Given the description of an element on the screen output the (x, y) to click on. 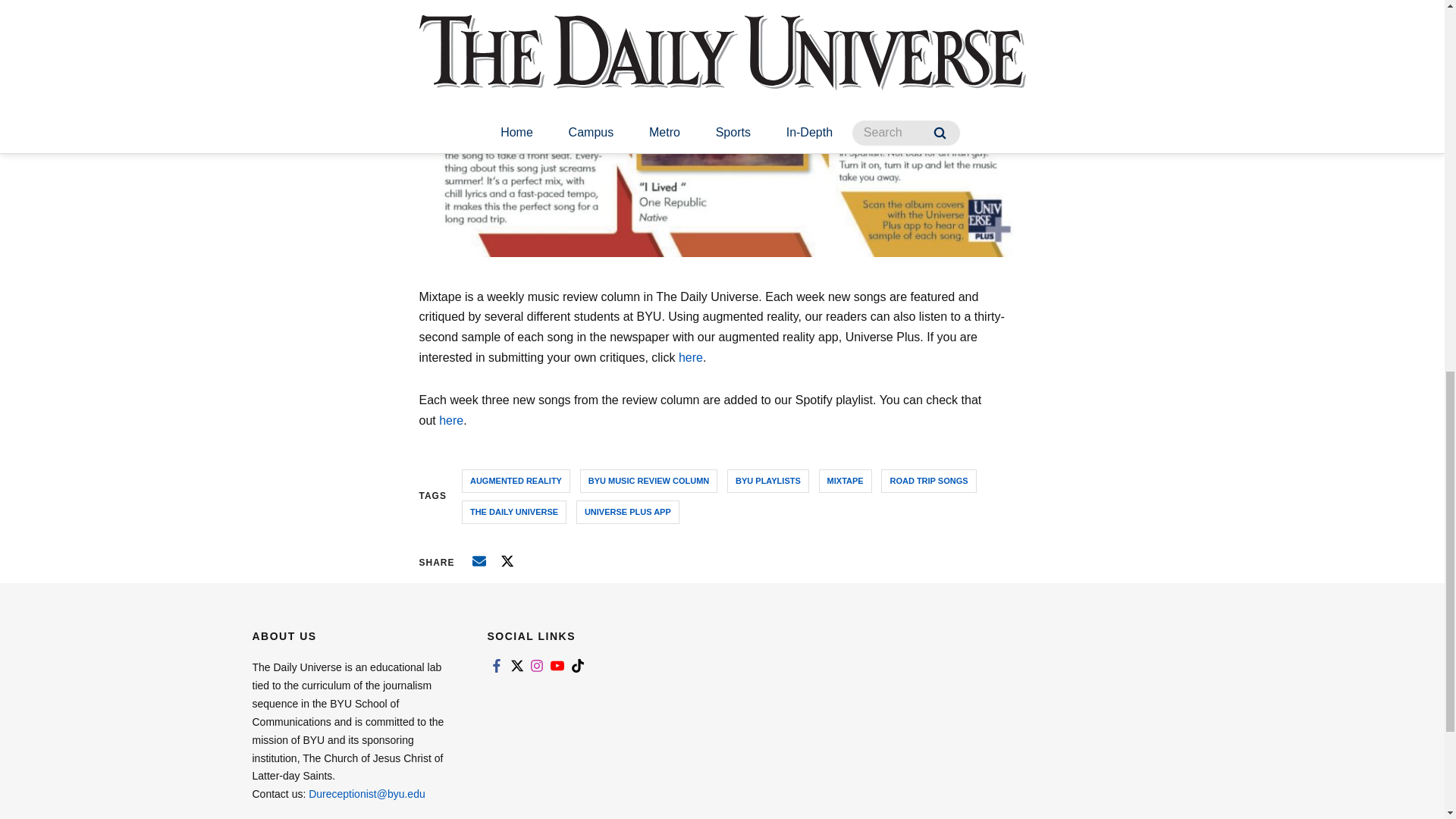
Link to instagram (536, 665)
MIXTAPE (845, 481)
Link to youtube (557, 665)
UNIVERSE PLUS APP (627, 512)
Email (478, 561)
here (451, 420)
Link to tiktok (577, 665)
ROAD TRIP SONGS (927, 481)
Link to facebook (495, 665)
THE DAILY UNIVERSE (513, 512)
